Given the description of an element on the screen output the (x, y) to click on. 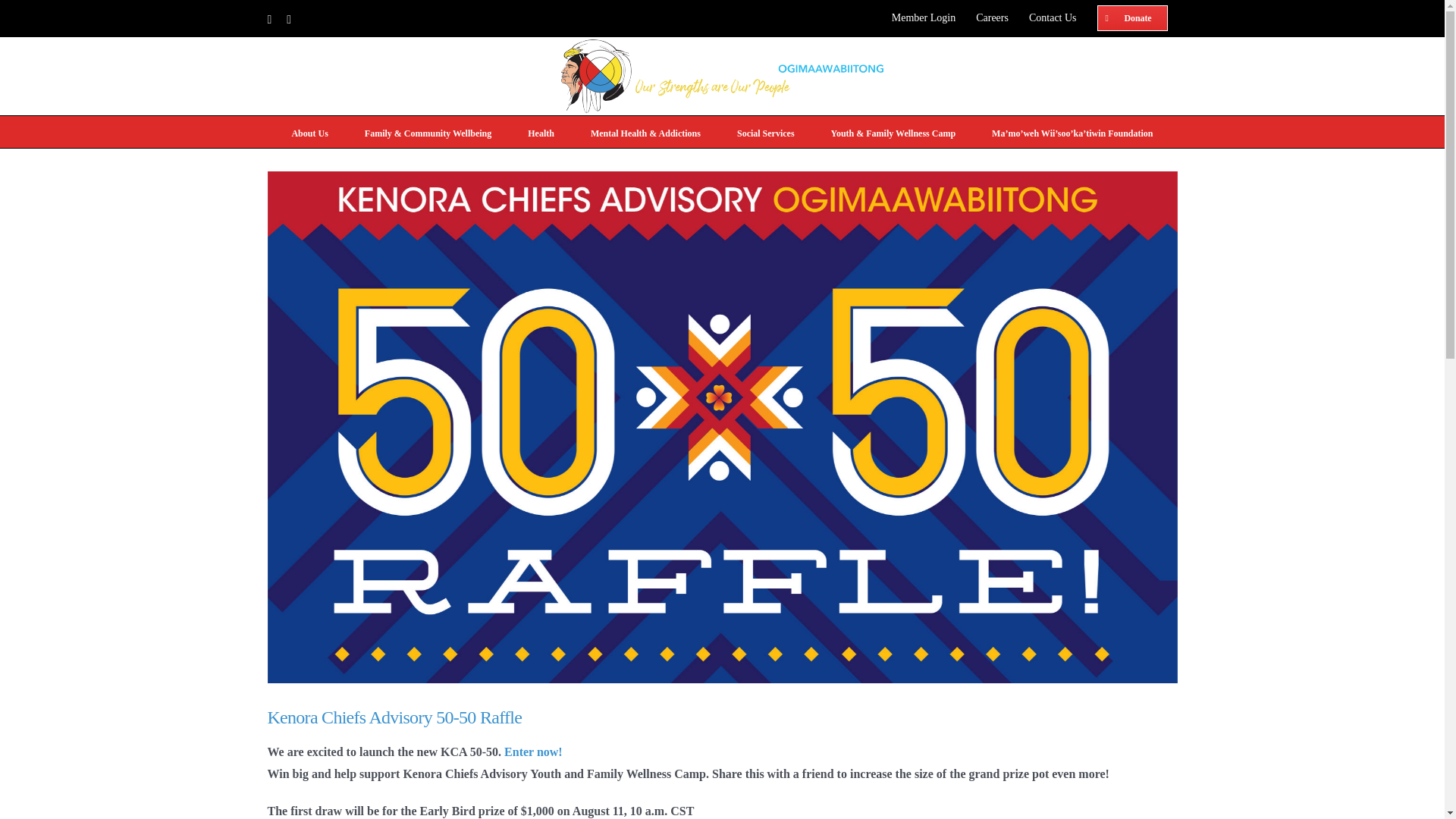
Donate (1132, 18)
Member Login (923, 18)
Careers (991, 18)
Contact Us (1052, 18)
About Us (309, 132)
